Given the description of an element on the screen output the (x, y) to click on. 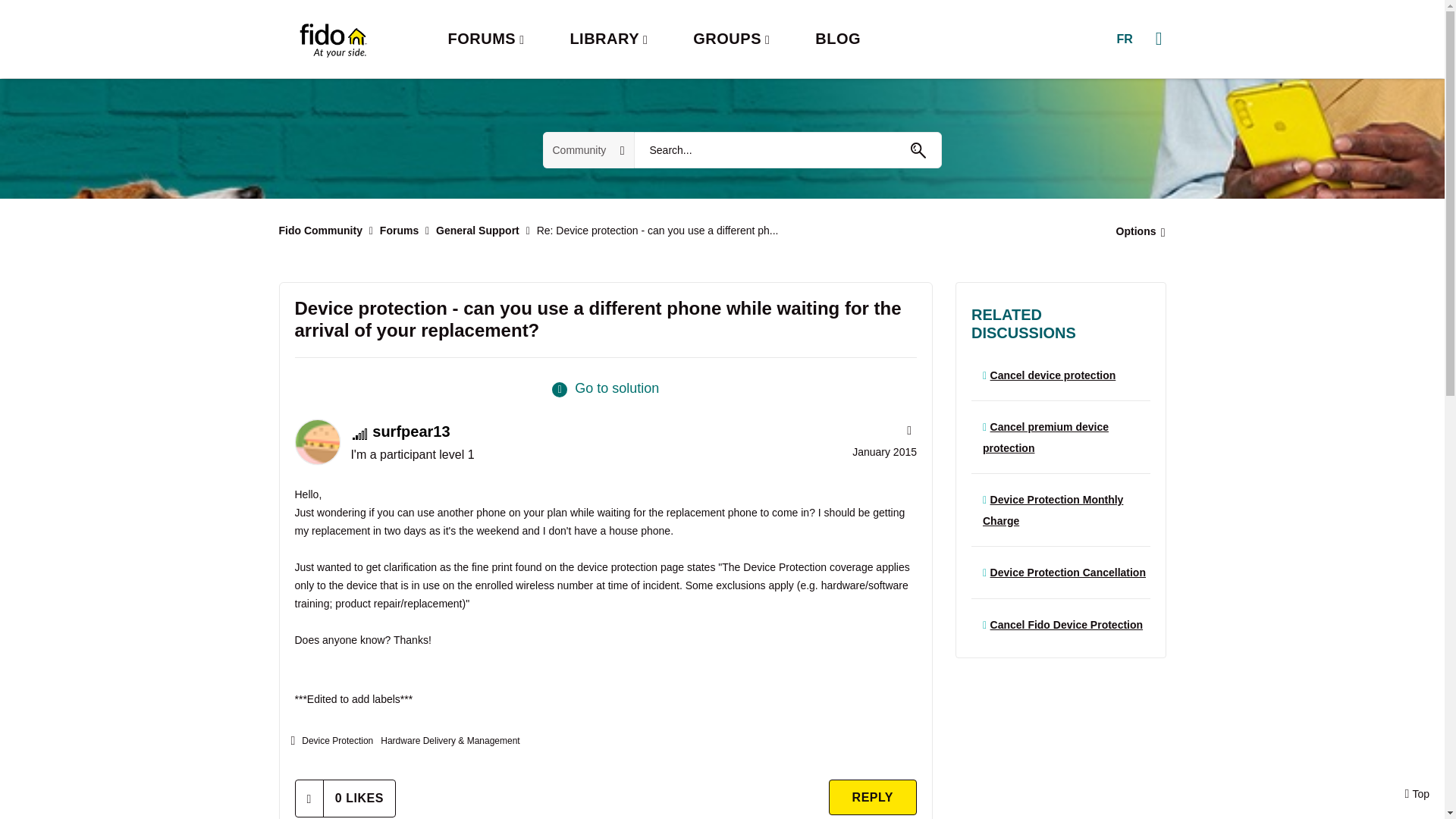
FORUMS (485, 39)
surfpear13 (316, 442)
Fido (332, 39)
Options (1136, 230)
Fido Community (320, 230)
FR (1124, 38)
Forums (399, 230)
Go (917, 149)
LIBRARY (608, 39)
Search Granularity (588, 149)
I'm a participant level 1 (359, 433)
Search (787, 149)
Show option menu (1136, 230)
General Support (477, 230)
Go (917, 149)
